Given the description of an element on the screen output the (x, y) to click on. 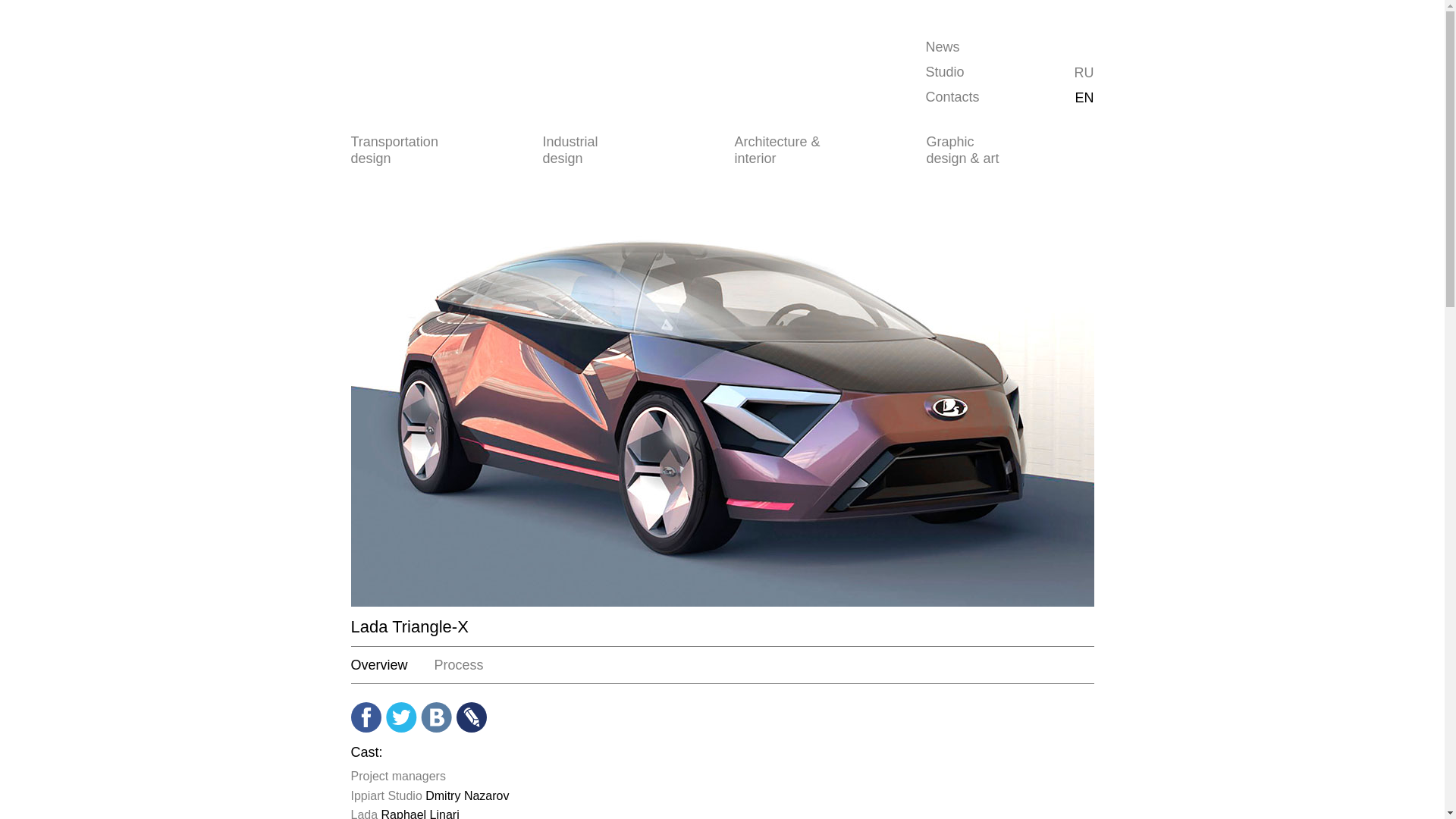
Studio (943, 71)
Share (436, 717)
Share (401, 717)
Share (366, 717)
Lada Triangle-X (1083, 72)
Overview (380, 665)
Industrial design (586, 150)
News (941, 46)
ippiart (413, 69)
